Given the description of an element on the screen output the (x, y) to click on. 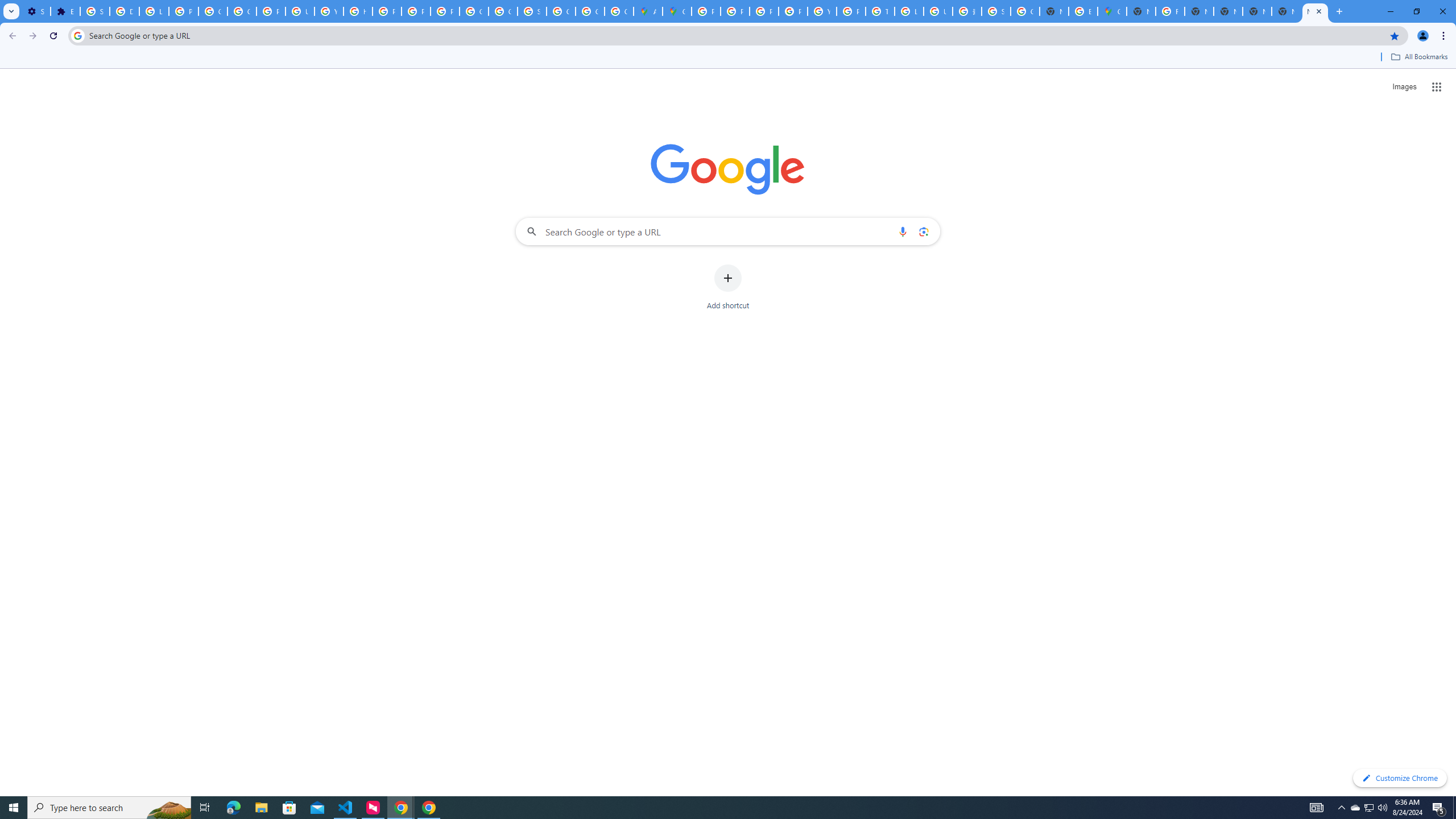
Bookmarks (728, 58)
New Tab (1315, 11)
YouTube (821, 11)
Privacy Help Center - Policies Help (734, 11)
All Bookmarks (1418, 56)
https://scholar.google.com/ (357, 11)
Policy Accountability and Transparency - Transparency Center (705, 11)
Learn how to find your photos - Google Photos Help (153, 11)
